Given the description of an element on the screen output the (x, y) to click on. 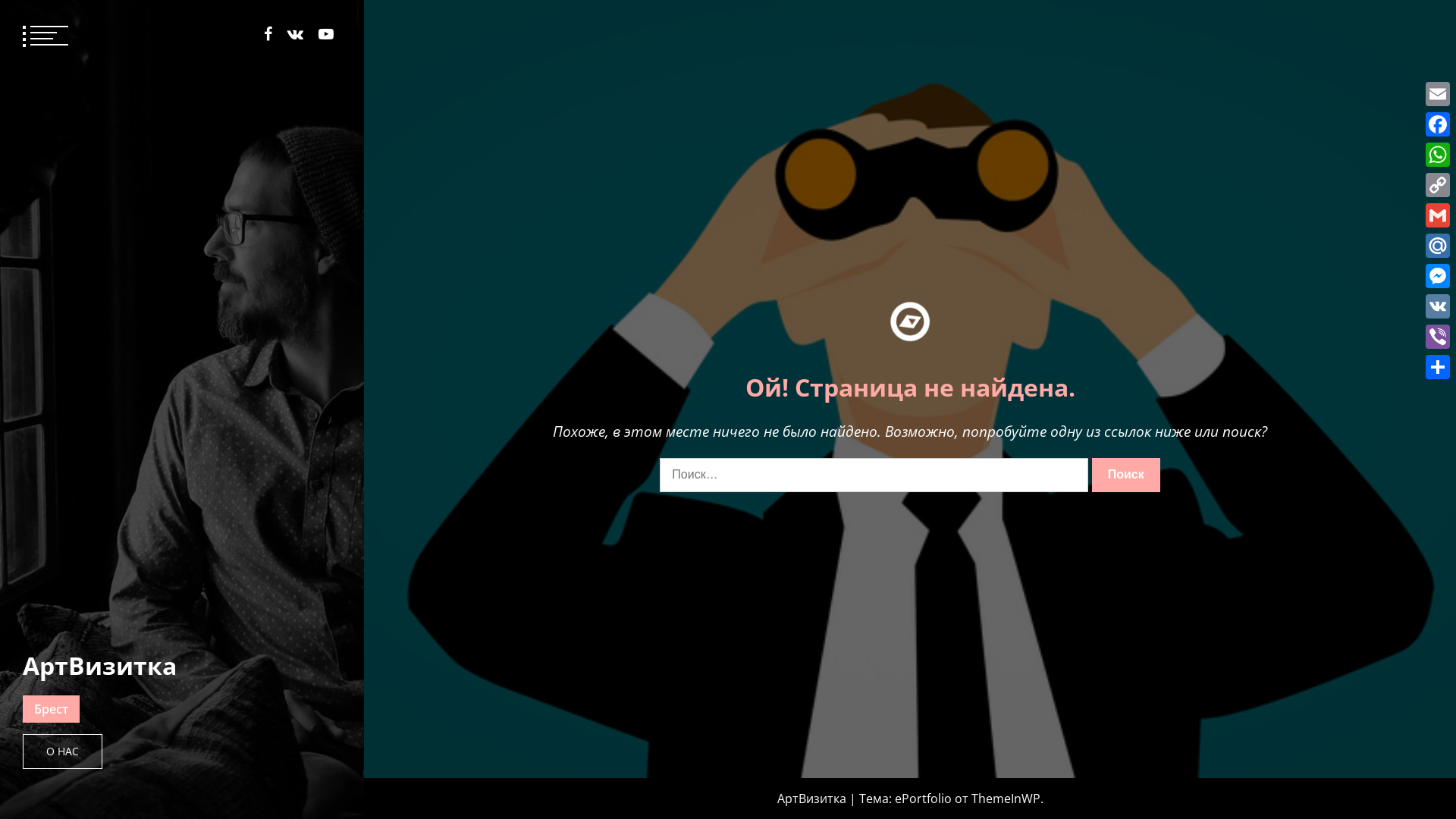
Messenger Element type: text (1437, 275)
Facebook Element type: text (1437, 124)
VK Element type: text (1437, 306)
WhatsApp Element type: text (1437, 154)
f Element type: text (267, 33)
Viber Element type: text (1437, 336)
Gmail Element type: text (1437, 215)
Email Element type: text (1437, 93)
Copy Link Element type: text (1437, 184)
vk Element type: text (294, 33)
YouTybe Element type: text (325, 33)
Mail.Ru Element type: text (1437, 245)
ThemeInWP Element type: text (1004, 798)
